Given the description of an element on the screen output the (x, y) to click on. 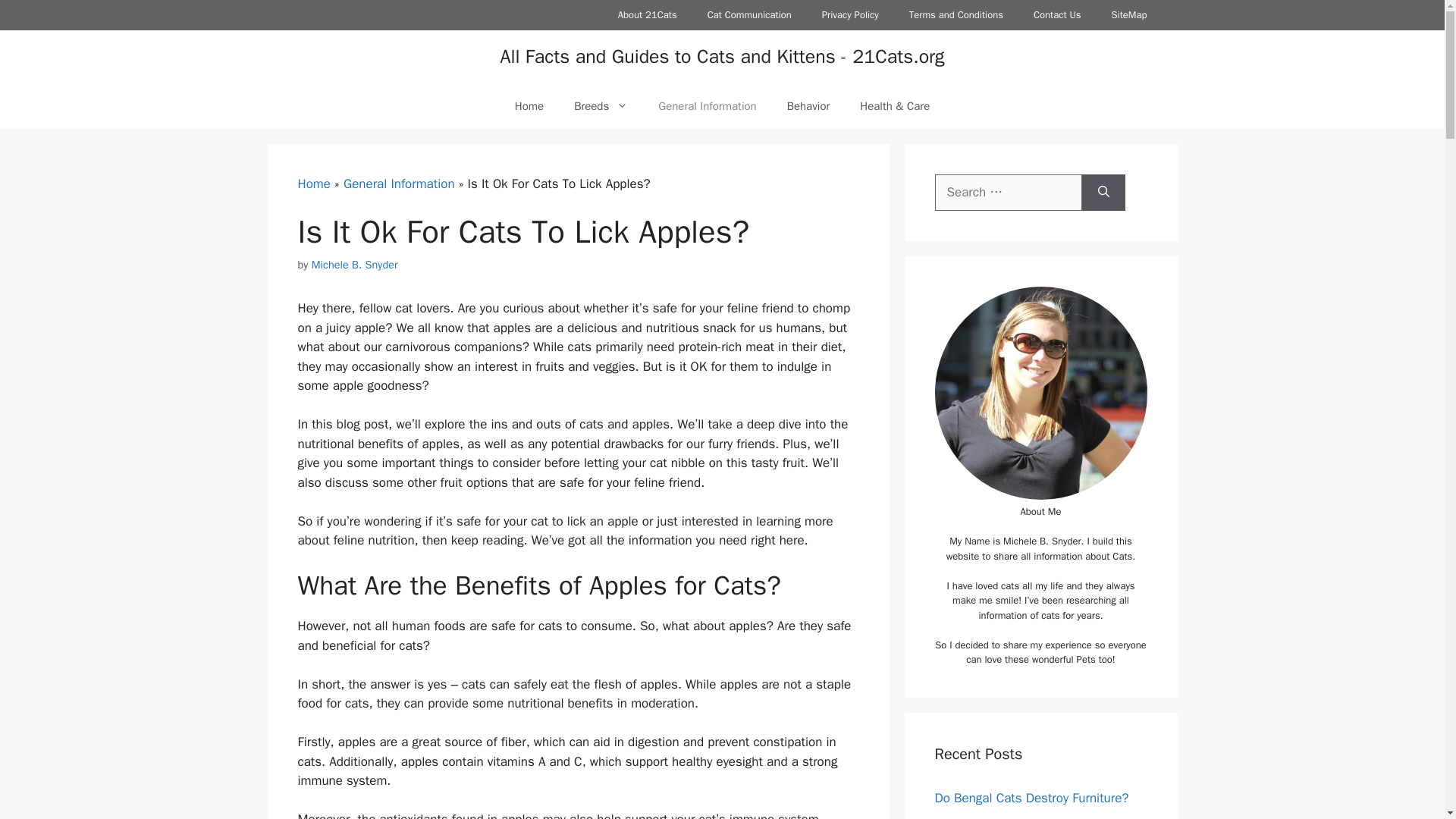
SiteMap (1128, 15)
All Facts and Guides to Cats and Kittens - 21Cats.org (721, 56)
Michele B. Snyder (354, 264)
Privacy Policy (849, 15)
Do Bengal Cats Destroy Furniture? (1031, 797)
Behavior (808, 105)
Why Do Cats Have Funny 5 Minutes? (1037, 817)
Search for: (1007, 192)
About 21Cats (647, 15)
Cat Communication (749, 15)
